Given the description of an element on the screen output the (x, y) to click on. 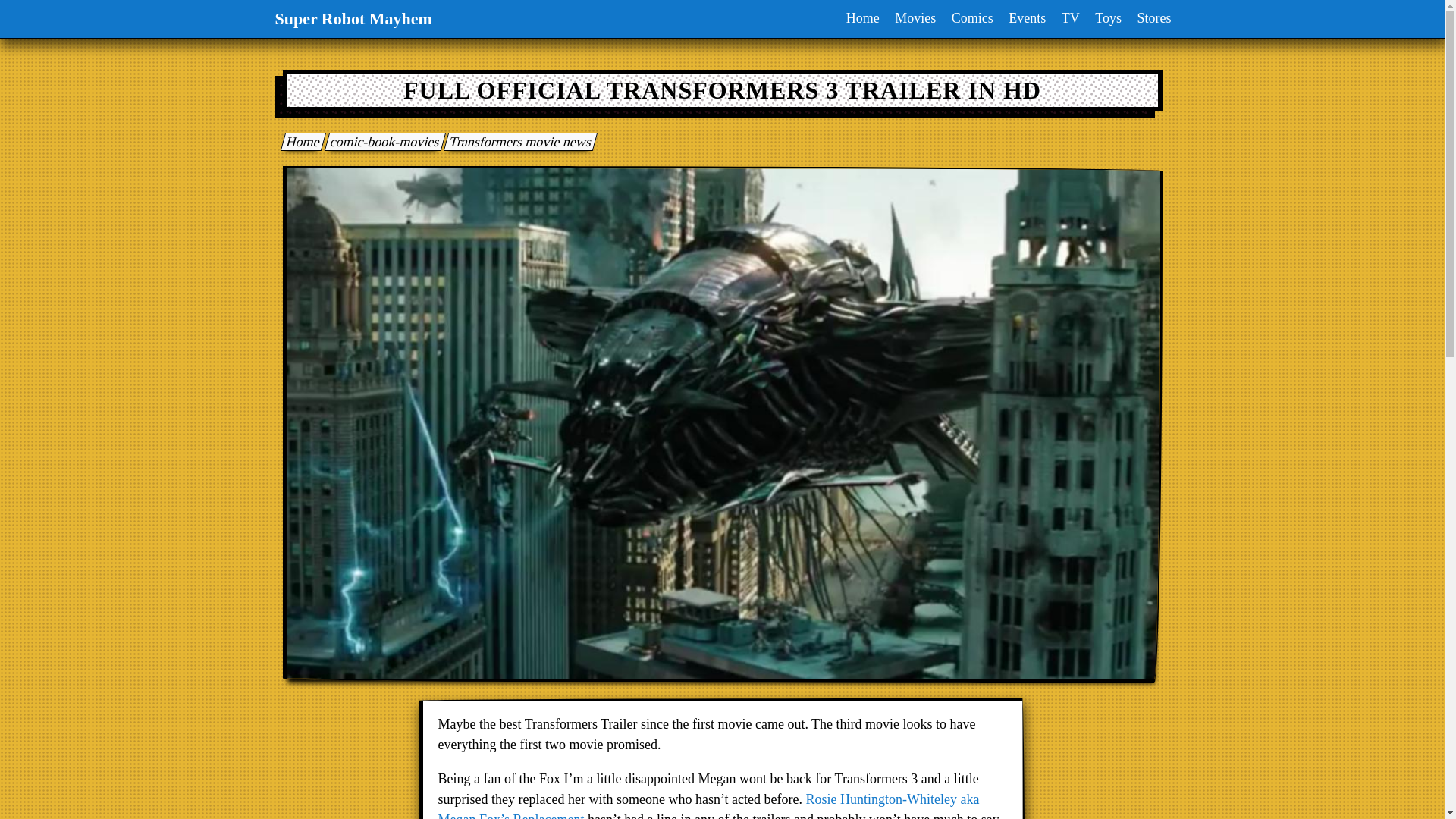
Megan Fox's replacement Rosie Huntington-Whiteley (708, 805)
Movies (915, 18)
Home (299, 141)
Super Robot Mayhem (352, 18)
TV (1070, 18)
Super Robot Mayhem (352, 18)
Comics (971, 18)
Home (862, 18)
Super Robot Mayhem (299, 141)
comic-book-movies (382, 141)
